Given the description of an element on the screen output the (x, y) to click on. 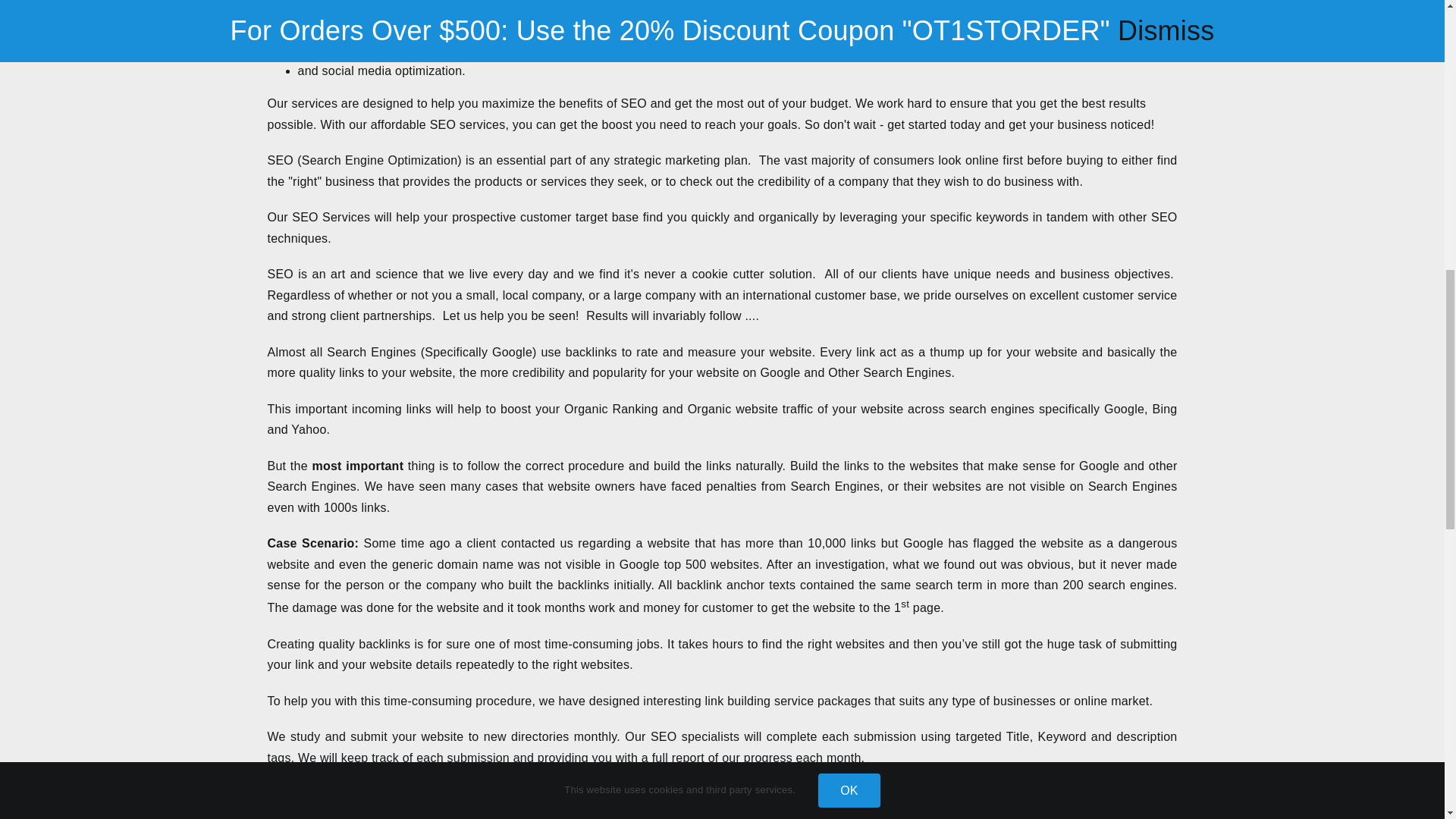
Organic website traffic (750, 408)
